Given the description of an element on the screen output the (x, y) to click on. 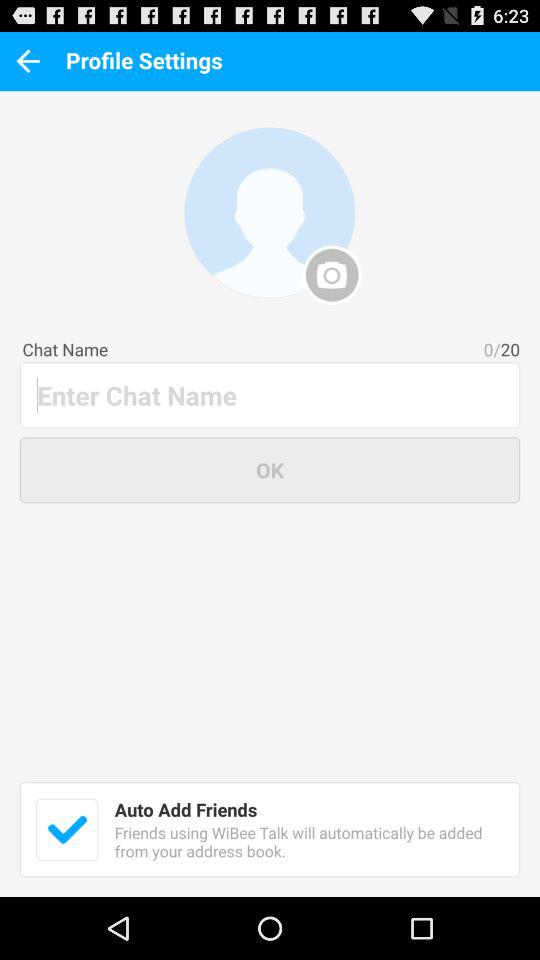
enter the name (271, 394)
